Given the description of an element on the screen output the (x, y) to click on. 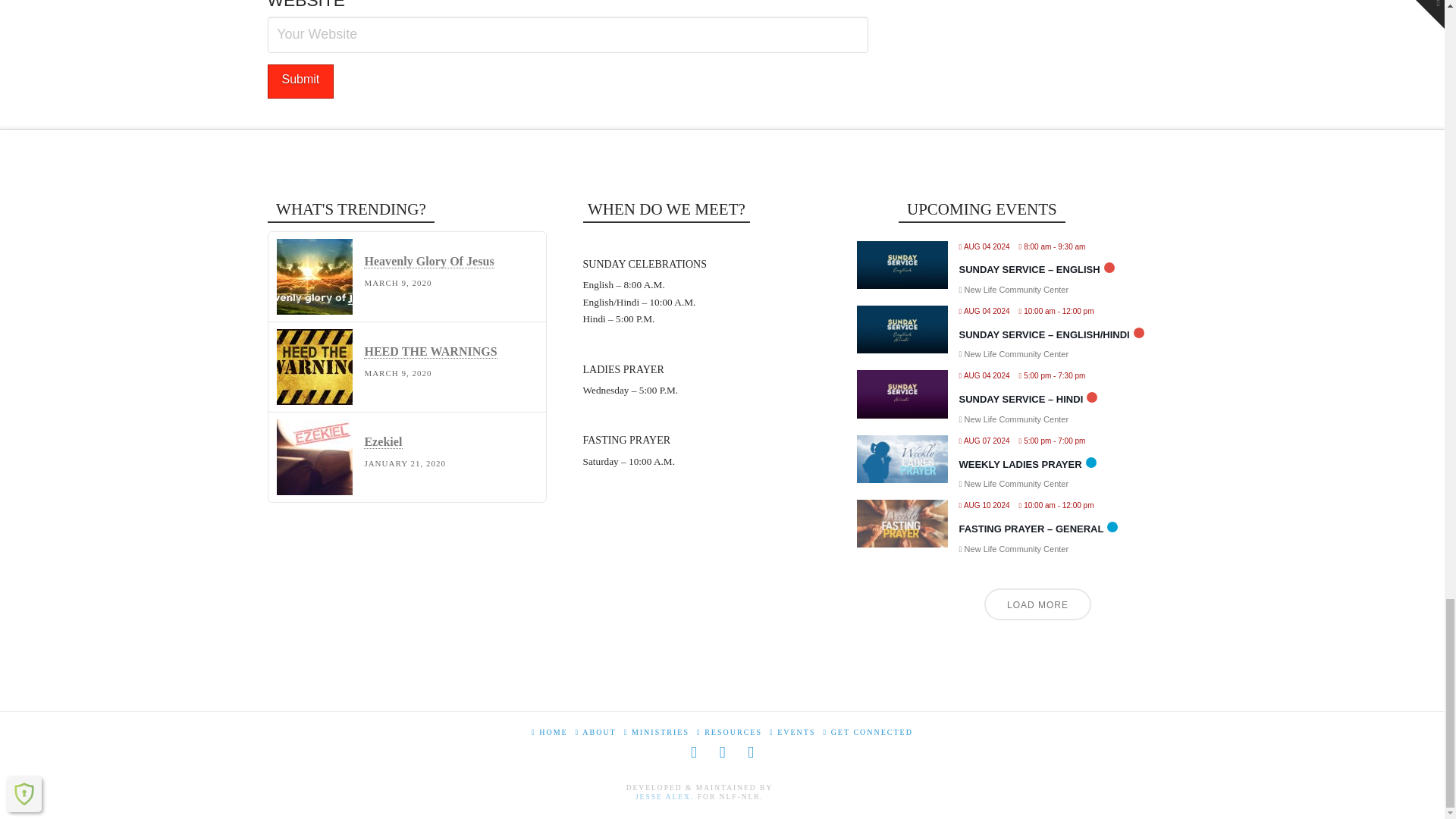
Submit (299, 81)
